Given the description of an element on the screen output the (x, y) to click on. 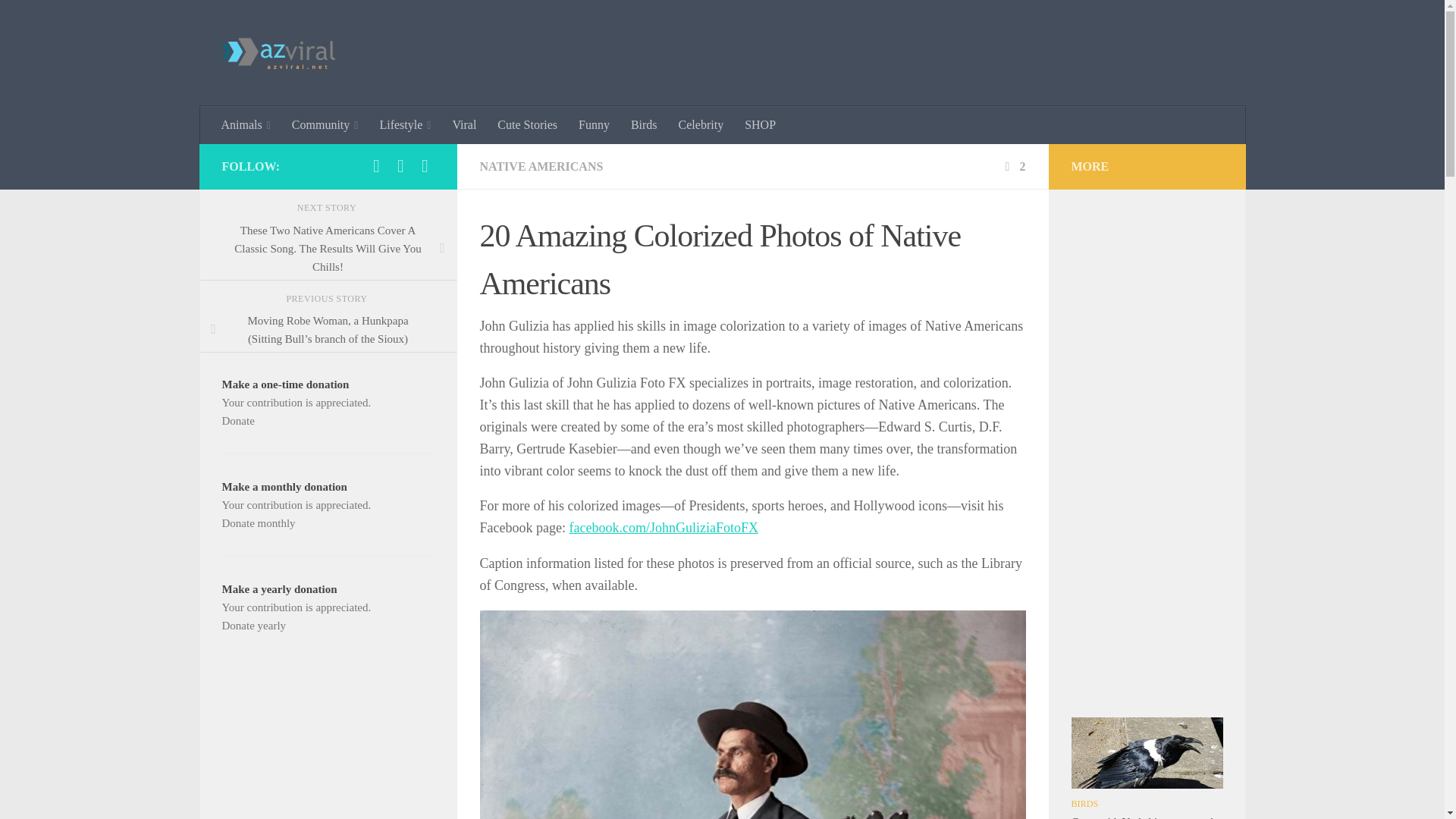
2 (1013, 165)
Advertisement (327, 745)
Follow us on Pinterest (400, 166)
Animals (246, 125)
Viral (463, 125)
Follow us on Instagram (423, 166)
Celebrity (701, 125)
Skip to content (59, 20)
Follow us on Facebook (375, 166)
NATIVE AMERICANS (540, 165)
